Given the description of an element on the screen output the (x, y) to click on. 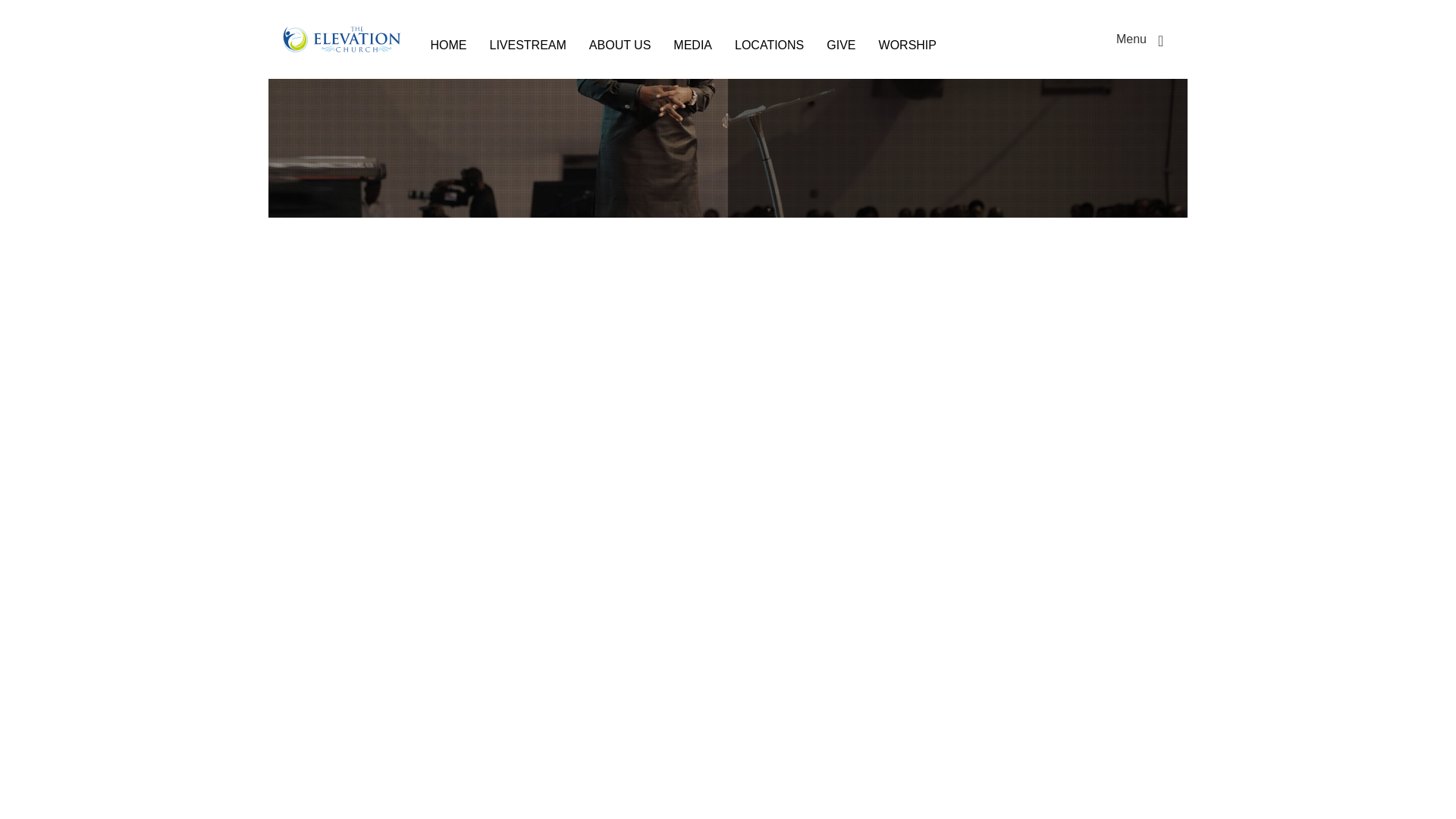
Menu (1142, 39)
LOCATIONS (769, 45)
LIVESTREAM (526, 45)
HOME (448, 45)
MEDIA (692, 45)
WORSHIP (907, 45)
GIVE (840, 45)
ABOUT US (620, 45)
